Given the description of an element on the screen output the (x, y) to click on. 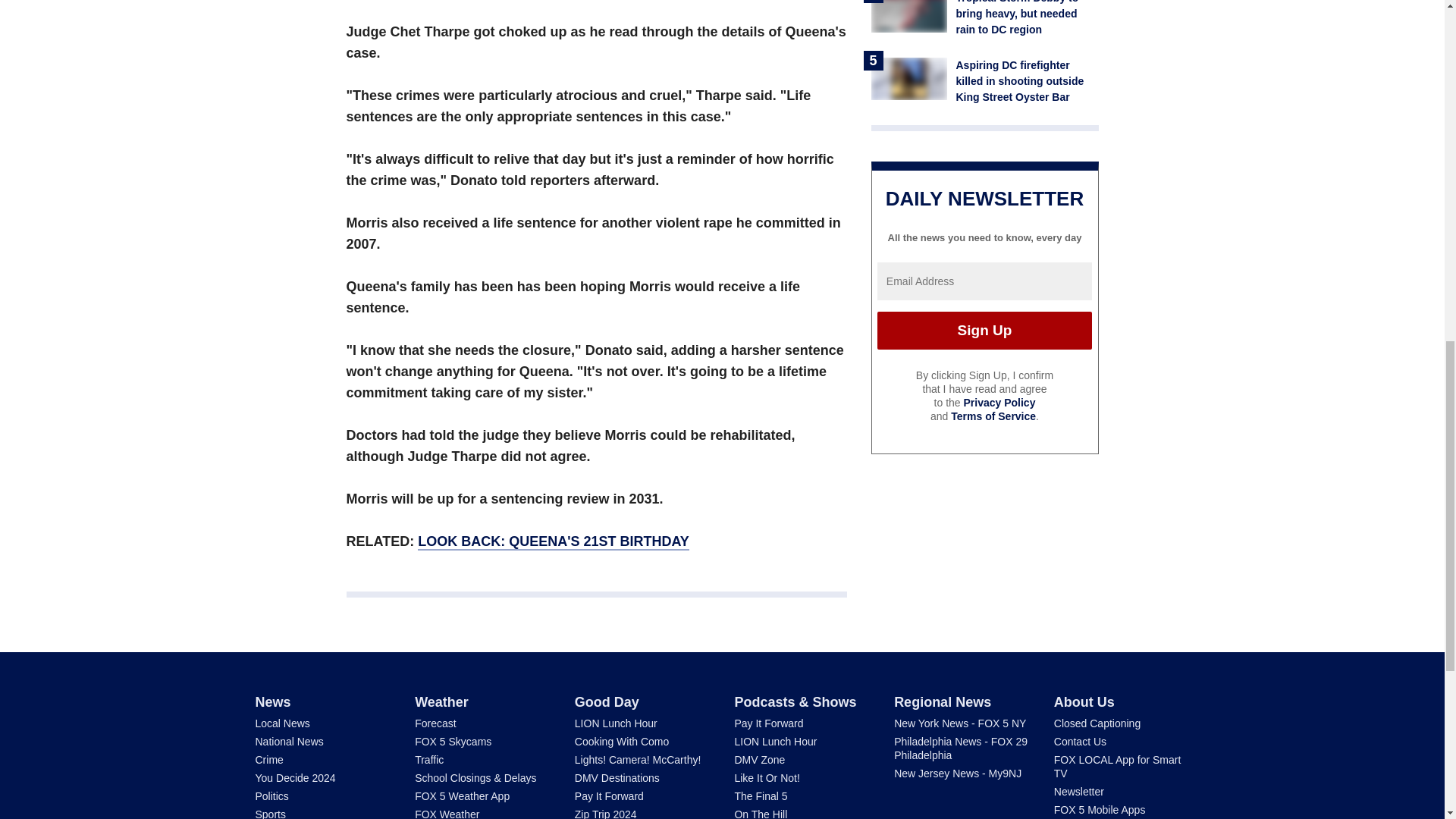
Sign Up (984, 330)
